Given the description of an element on the screen output the (x, y) to click on. 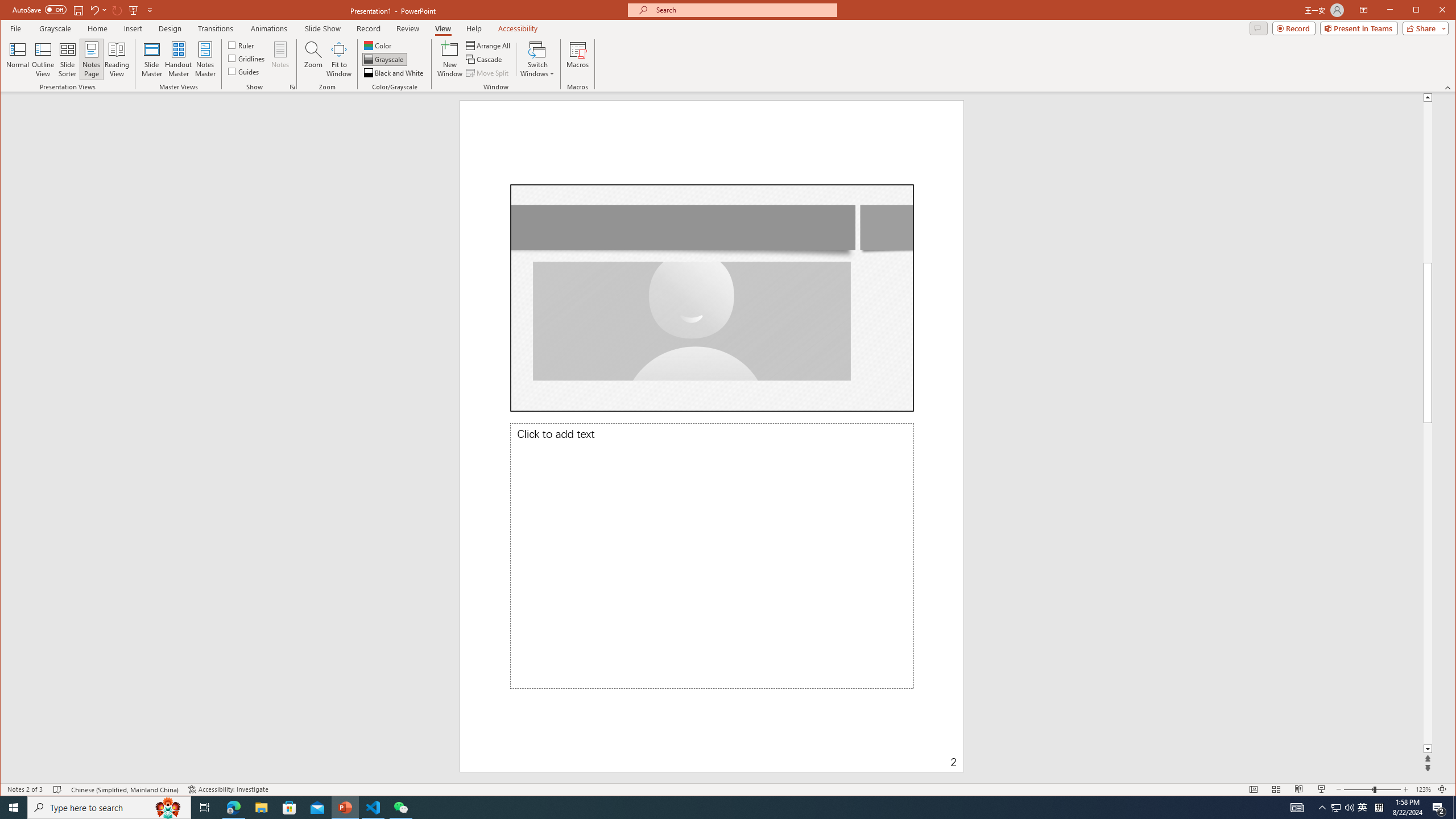
Notes Master (204, 59)
Guides (243, 70)
Black and White (394, 72)
